Given the description of an element on the screen output the (x, y) to click on. 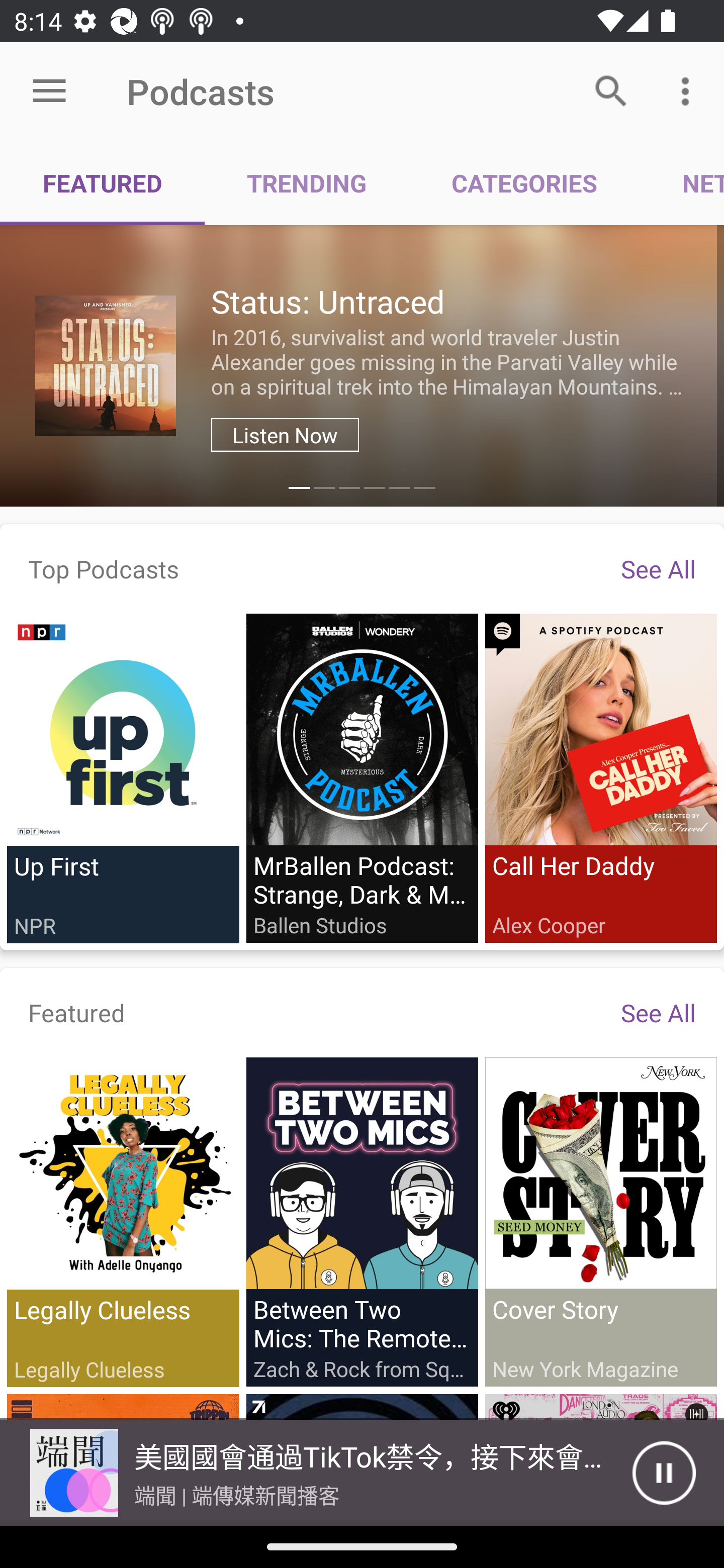
Open menu (49, 91)
Search (611, 90)
More options (688, 90)
FEATURED (102, 183)
TRENDING (306, 183)
CATEGORIES (524, 183)
Top Podcasts (103, 567)
See All (658, 567)
Up First NPR (123, 778)
Call Her Daddy Alex Cooper (600, 777)
Featured (76, 1011)
See All (658, 1011)
Legally Clueless (123, 1221)
Cover Story New York Magazine (600, 1221)
Picture 美國國會通過TikTok禁令，接下來會發生什麼？ 端聞 | 端傳媒新聞播客 (316, 1472)
Pause (663, 1472)
